Given the description of an element on the screen output the (x, y) to click on. 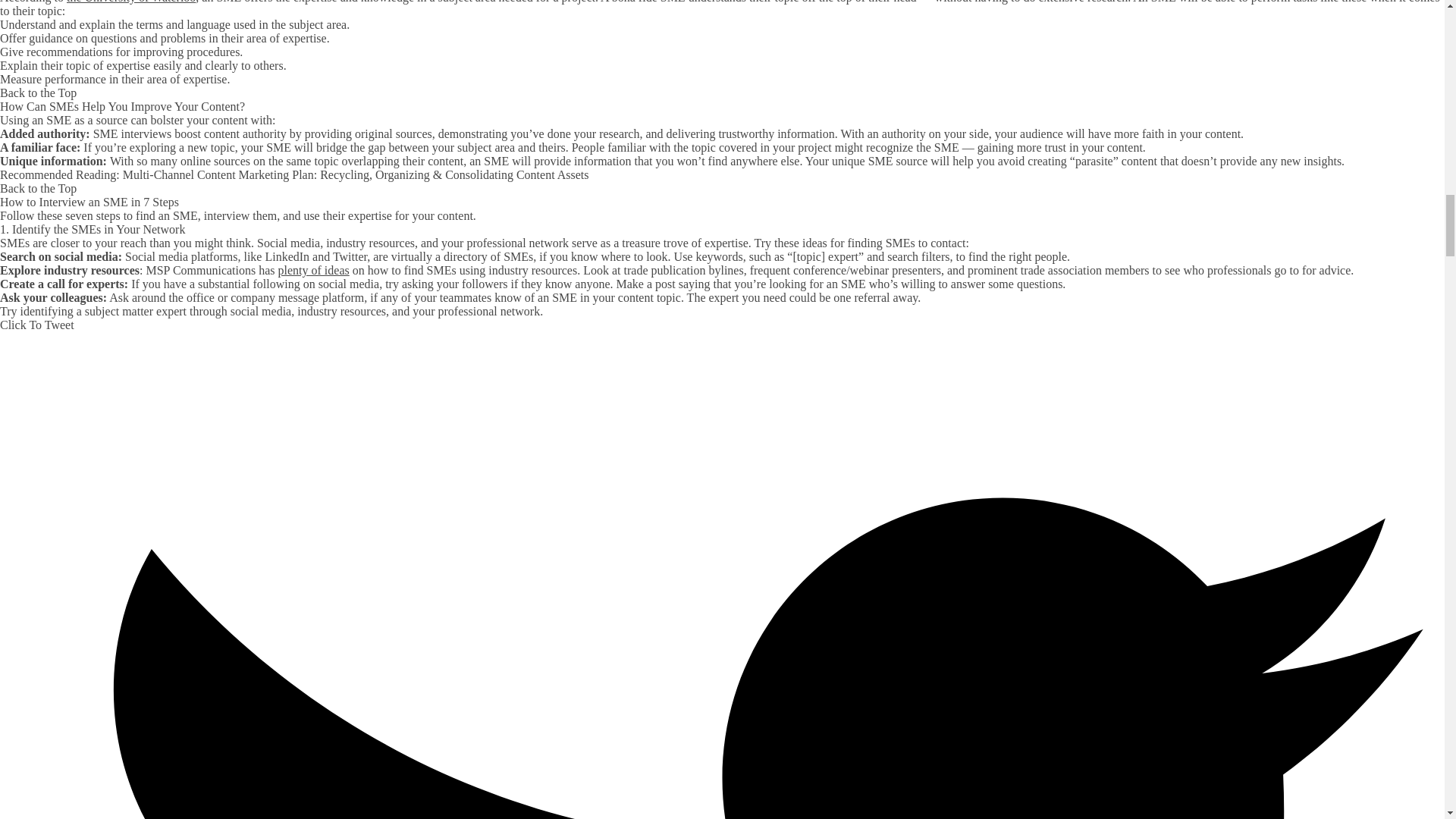
Back to the Top (38, 187)
Back to the Top (38, 92)
plenty of ideas (313, 269)
the University of Waterloo (130, 2)
